Given the description of an element on the screen output the (x, y) to click on. 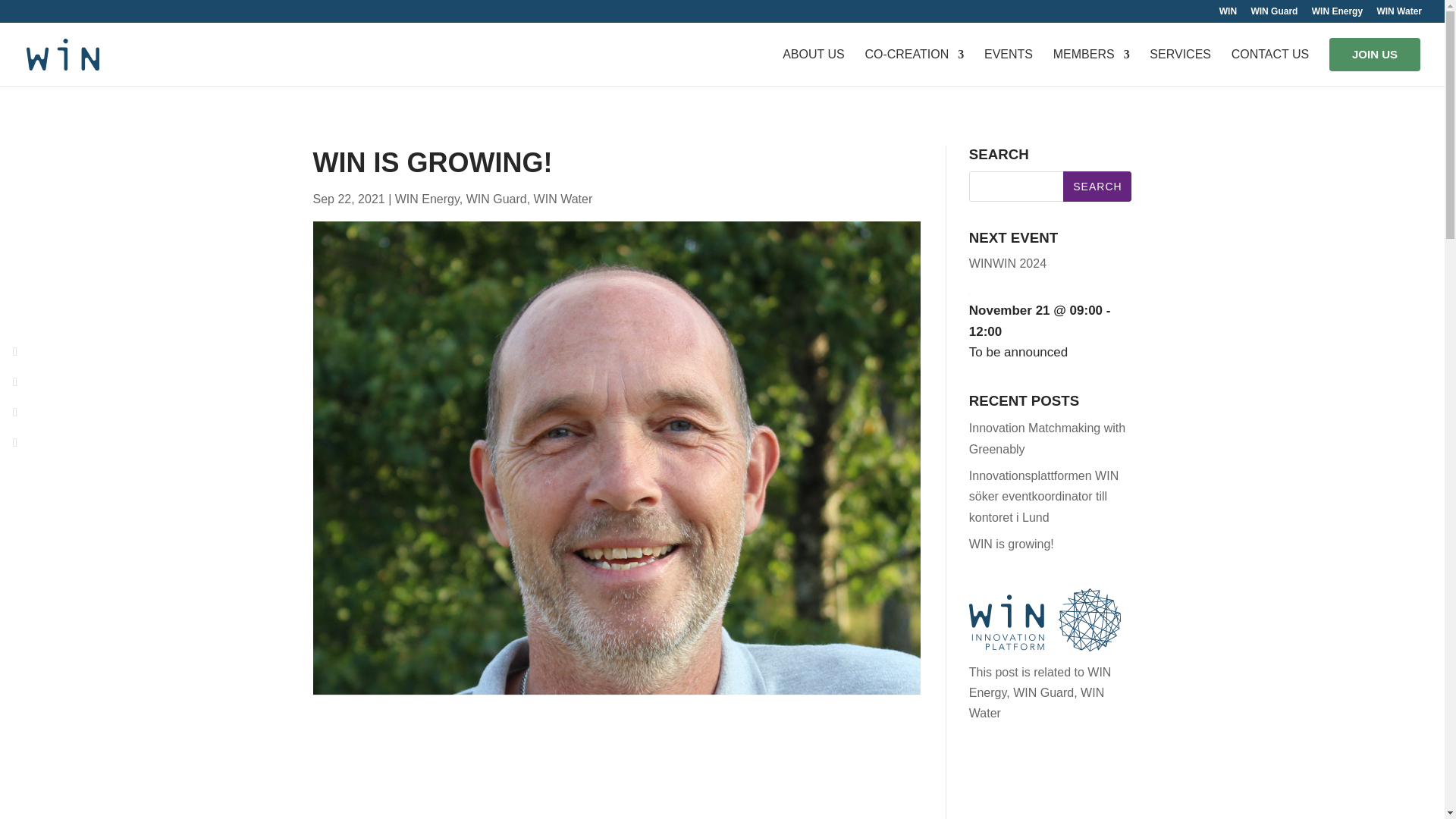
WIN (1228, 14)
WIN Guard (1273, 14)
CO-CREATION (913, 67)
JOIN US (1374, 61)
CONTACT US (1269, 67)
Innovation Matchmaking with Greenably (1047, 438)
EVENTS (1008, 67)
WIN is growing! (1011, 543)
win-way-logo (1045, 619)
Search (1096, 186)
MEMBERS (1090, 67)
WINWIN 2024 (1007, 263)
ABOUT US (813, 67)
WIN Energy (1336, 14)
Search (1096, 186)
